Given the description of an element on the screen output the (x, y) to click on. 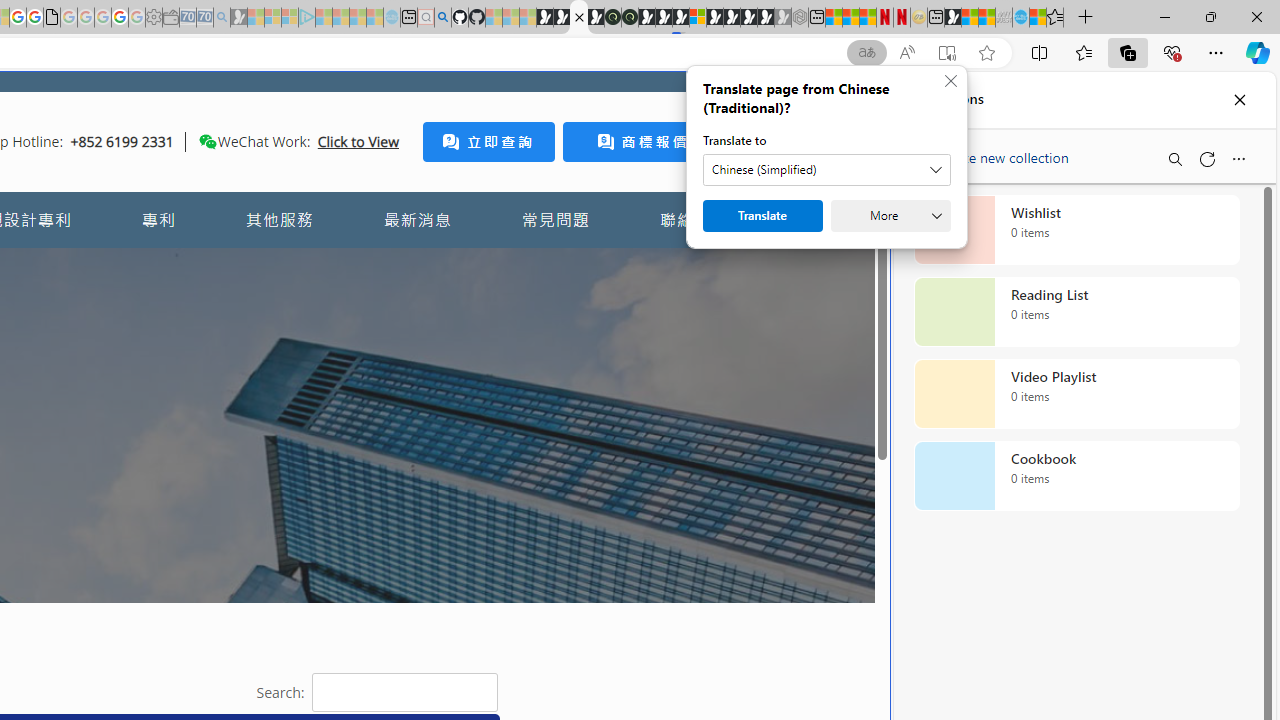
Search or enter web address (343, 191)
More (890, 215)
Show translate options (867, 53)
google_privacy_policy_zh-CN.pdf (51, 17)
Sign in to your account (697, 17)
Translate (762, 215)
